Given the description of an element on the screen output the (x, y) to click on. 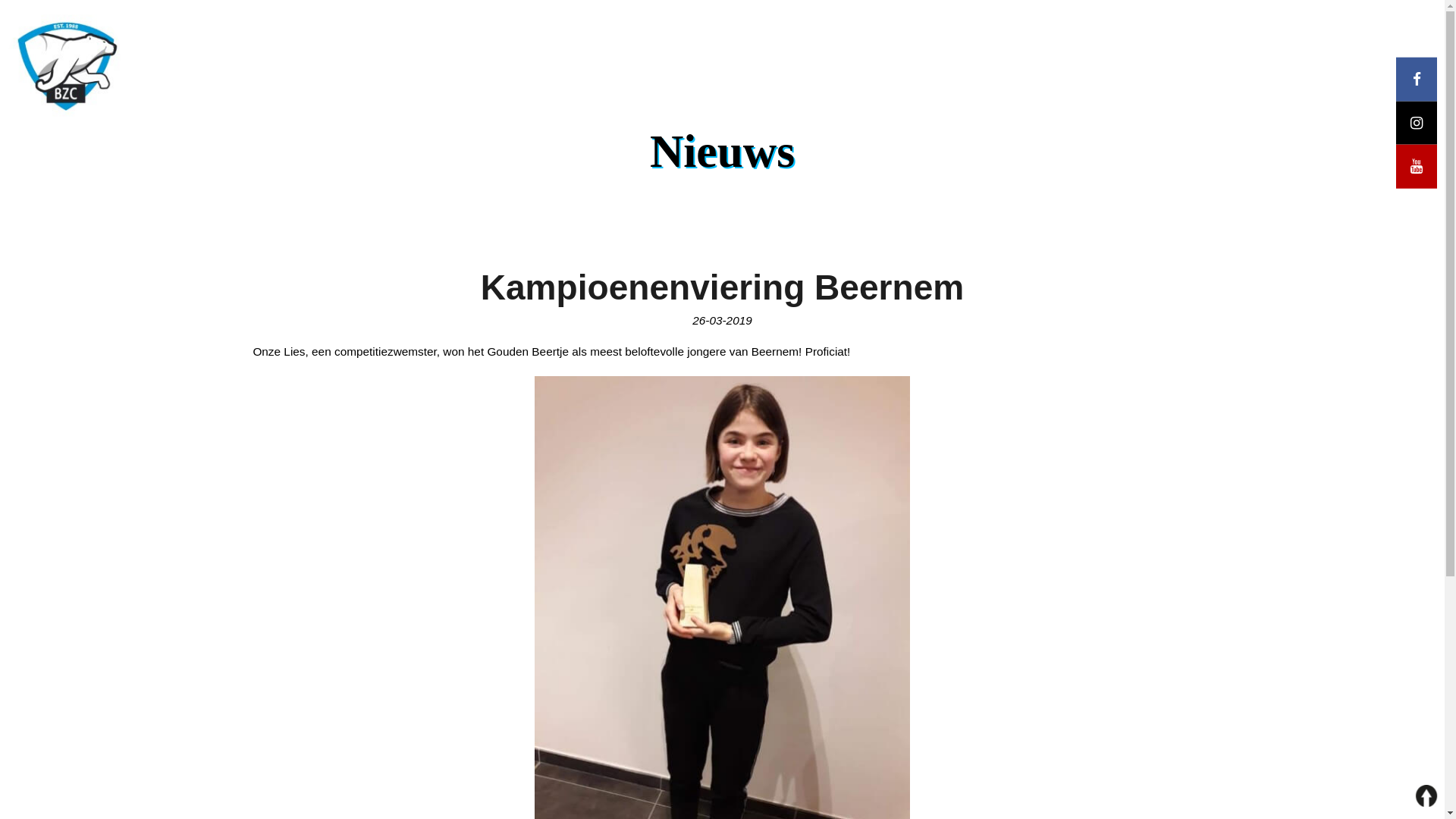
Zwemmen Element type: text (468, 24)
Clubinformatie Element type: text (756, 24)
Stagebenefiet Element type: text (938, 24)
Home Element type: text (341, 24)
Nieuws Element type: text (601, 24)
Contact Element type: text (1094, 24)
